Given the description of an element on the screen output the (x, y) to click on. 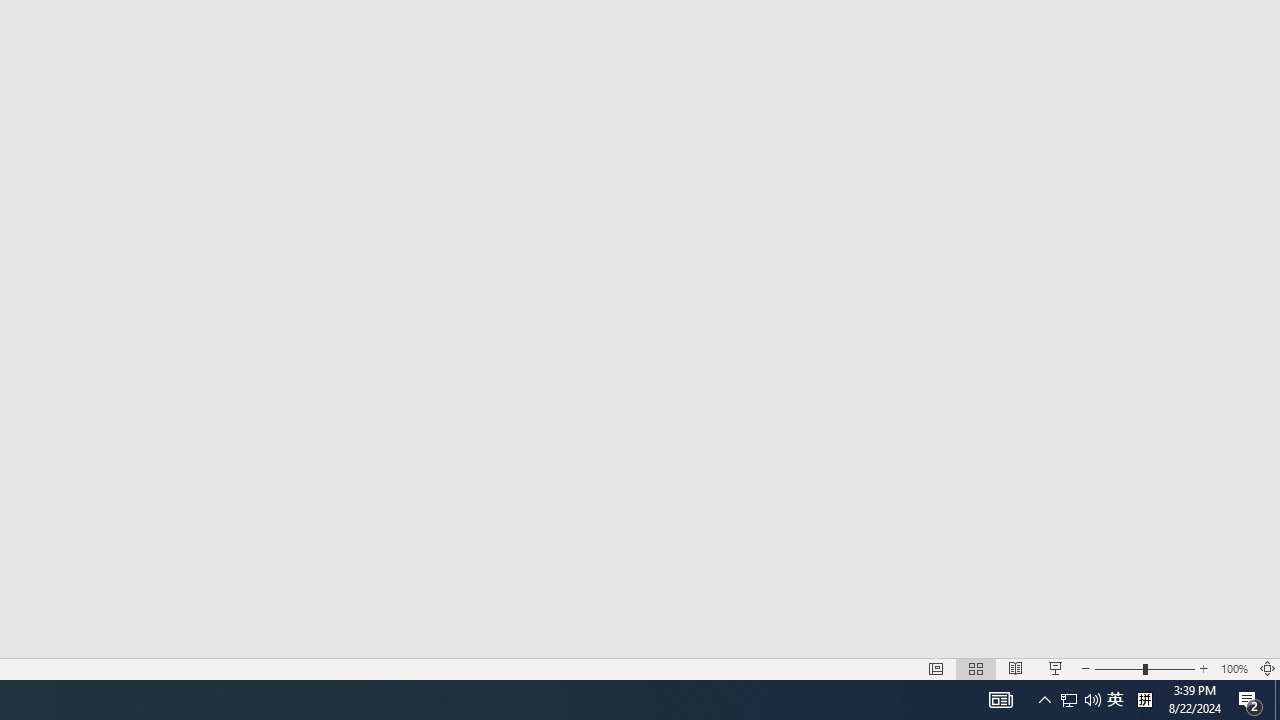
Zoom 100% (1234, 668)
